Given the description of an element on the screen output the (x, y) to click on. 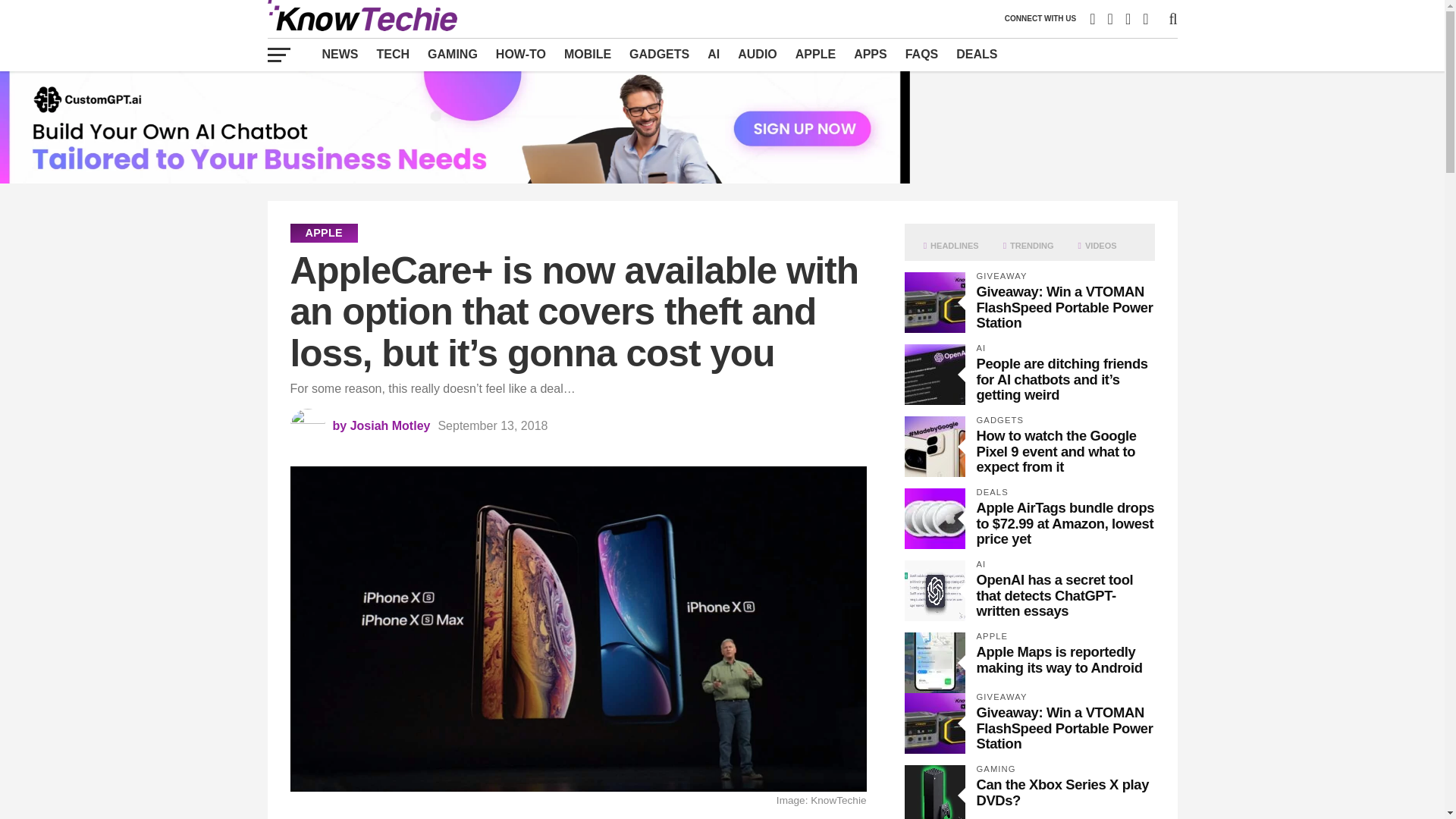
Josiah Motley (390, 425)
DEALS (976, 54)
AUDIO (757, 54)
AI (713, 54)
TECH (392, 54)
GADGETS (659, 54)
MOBILE (587, 54)
APPS (870, 54)
FAQS (921, 54)
APPLE (815, 54)
